Given the description of an element on the screen output the (x, y) to click on. 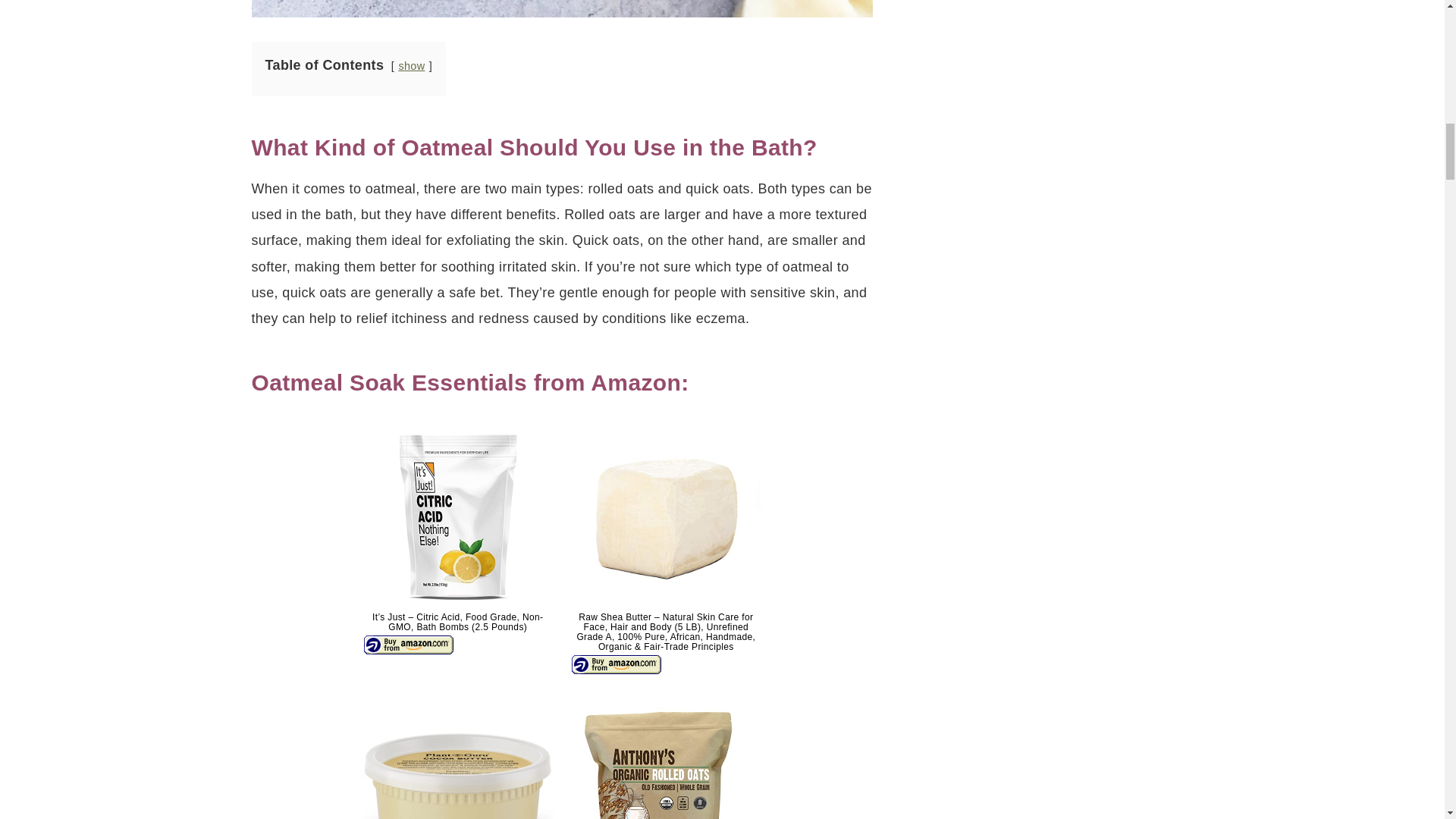
show (411, 65)
